Given the description of an element on the screen output the (x, y) to click on. 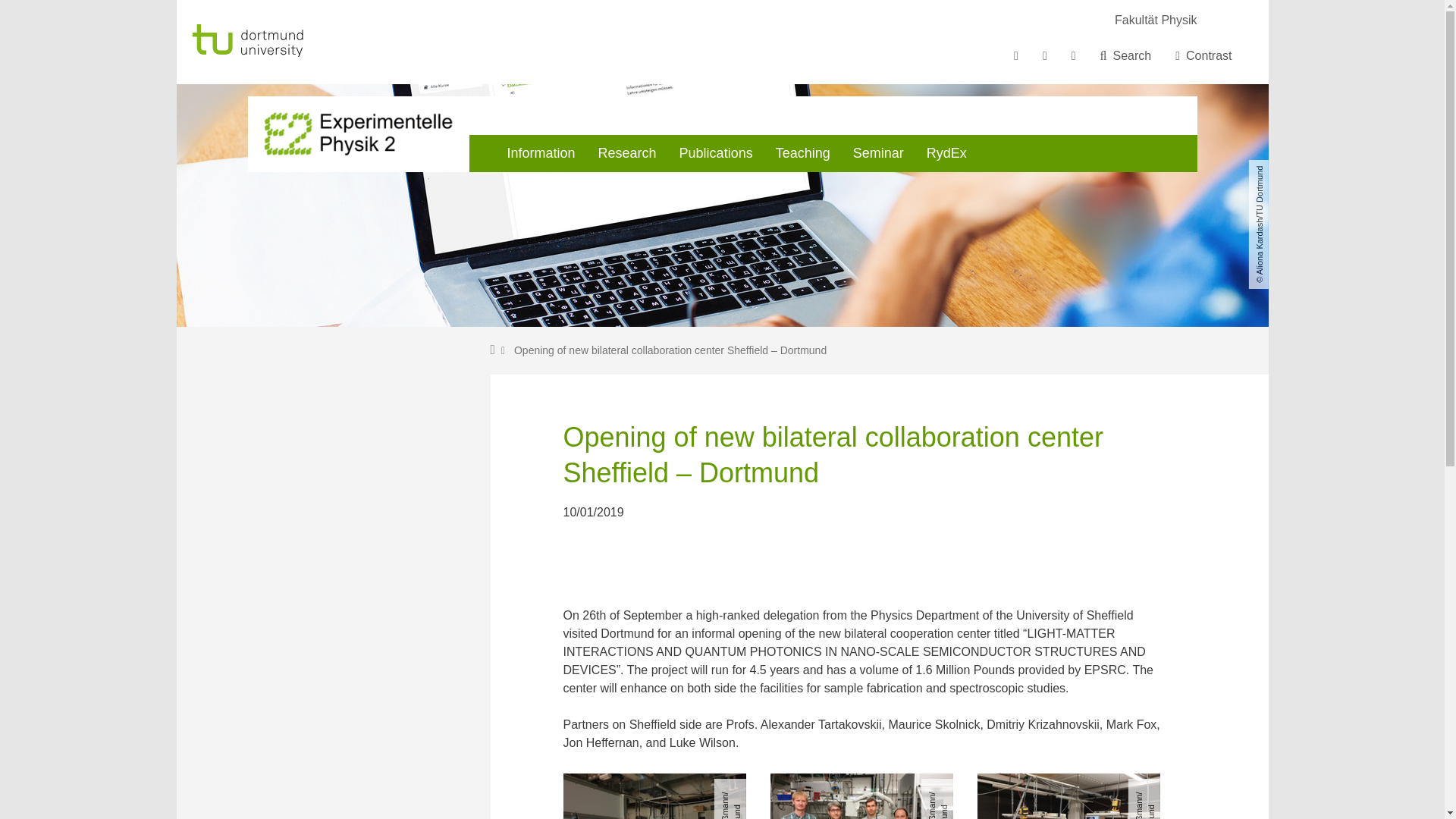
Search (1125, 55)
Contrast (1203, 55)
Contrast (1203, 55)
Search (1125, 55)
To the home page (286, 40)
